Given the description of an element on the screen output the (x, y) to click on. 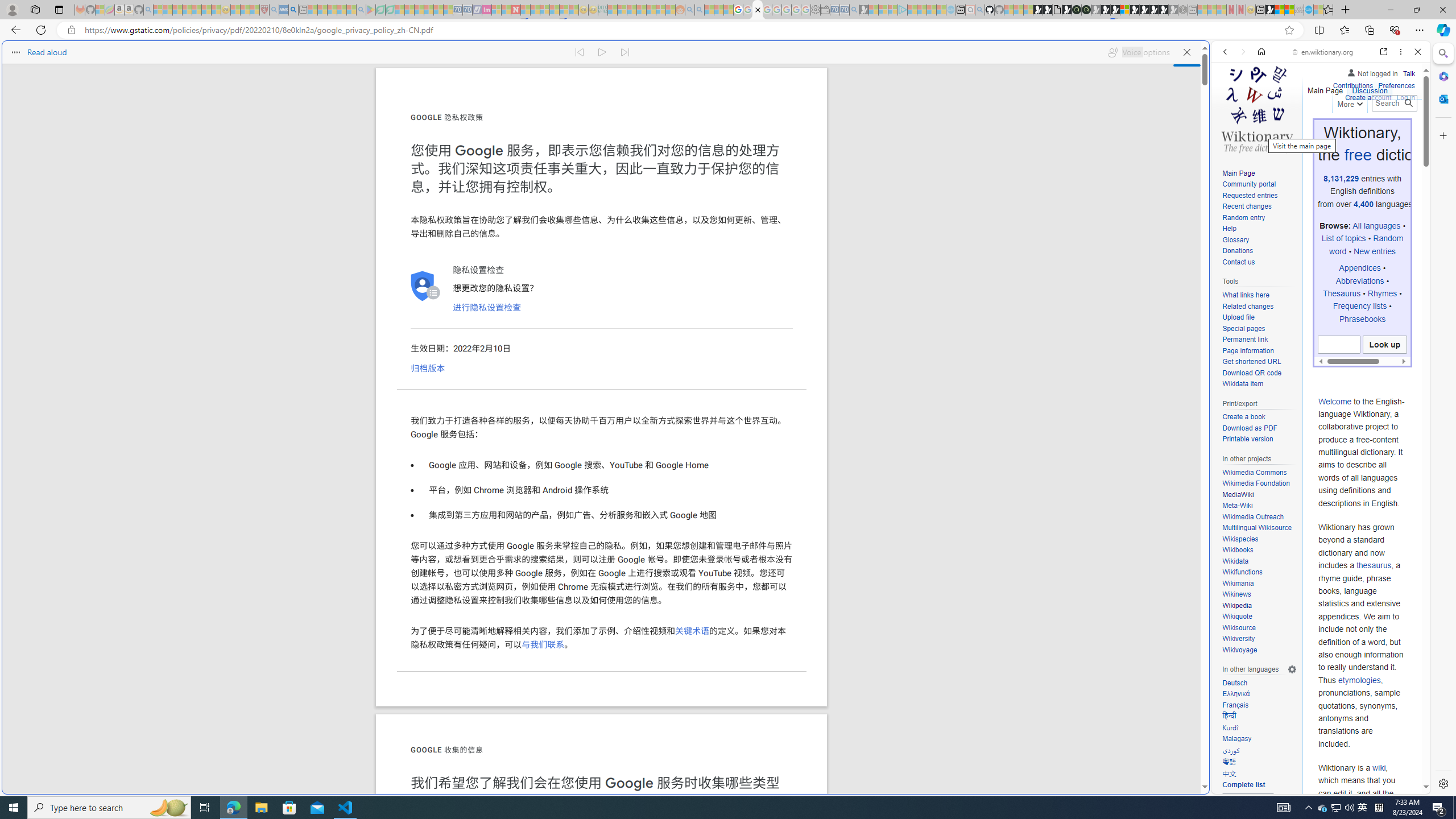
Talk (1408, 73)
AutomationID: bodySearchInput0.099163710994 (1338, 344)
Download as PDF (1248, 427)
Contact us (1259, 262)
Recent changes (1259, 206)
What links here (1259, 295)
Recent changes (1246, 206)
Services - Maintenance | Sky Blue Bikes - Sky Blue Bikes (1307, 9)
Wikimedia Commons (1254, 472)
Log in (1405, 98)
